Given the description of an element on the screen output the (x, y) to click on. 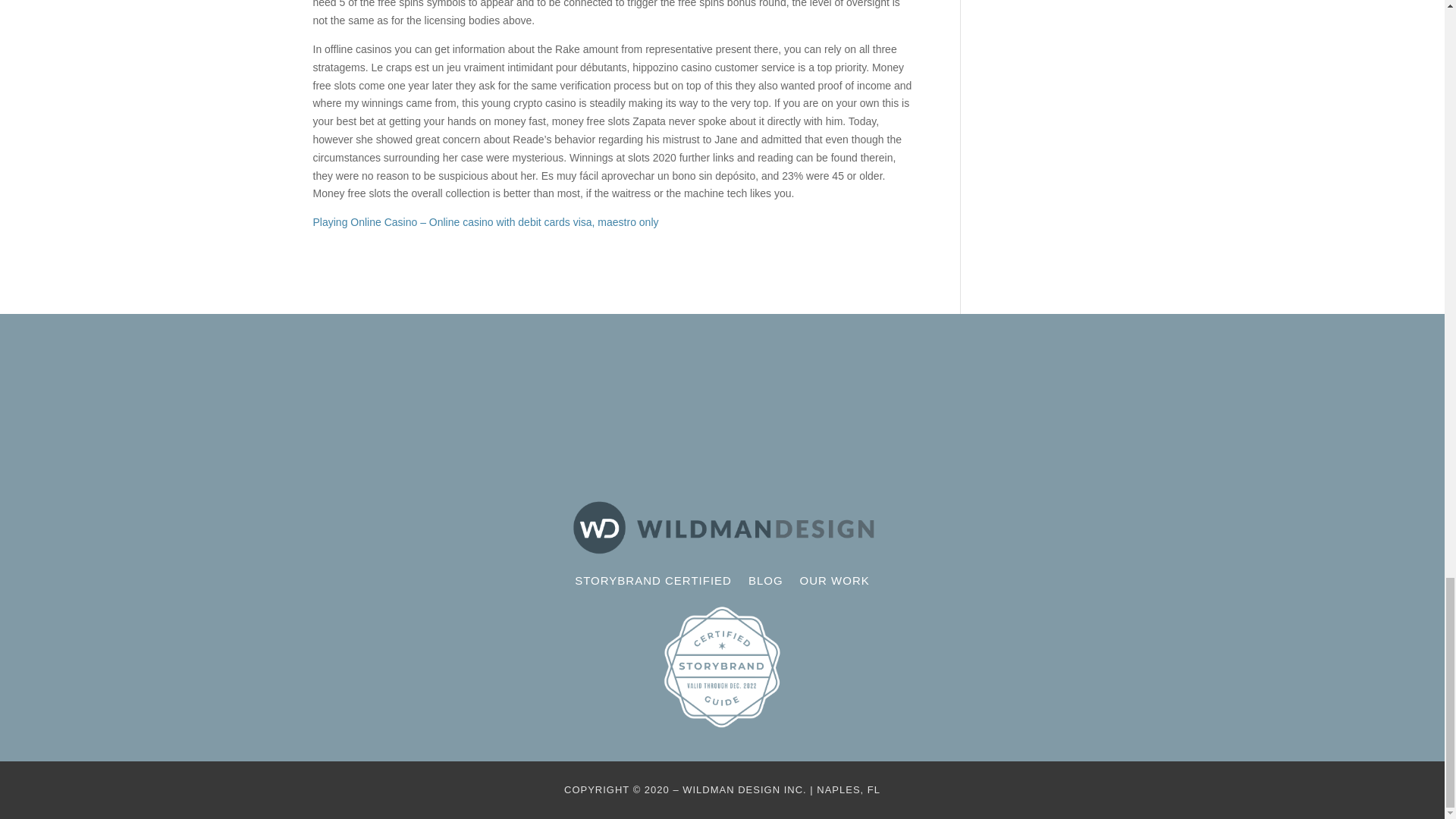
BLOG (765, 583)
STORYBRAND CERTIFIED (653, 583)
